Given the description of an element on the screen output the (x, y) to click on. 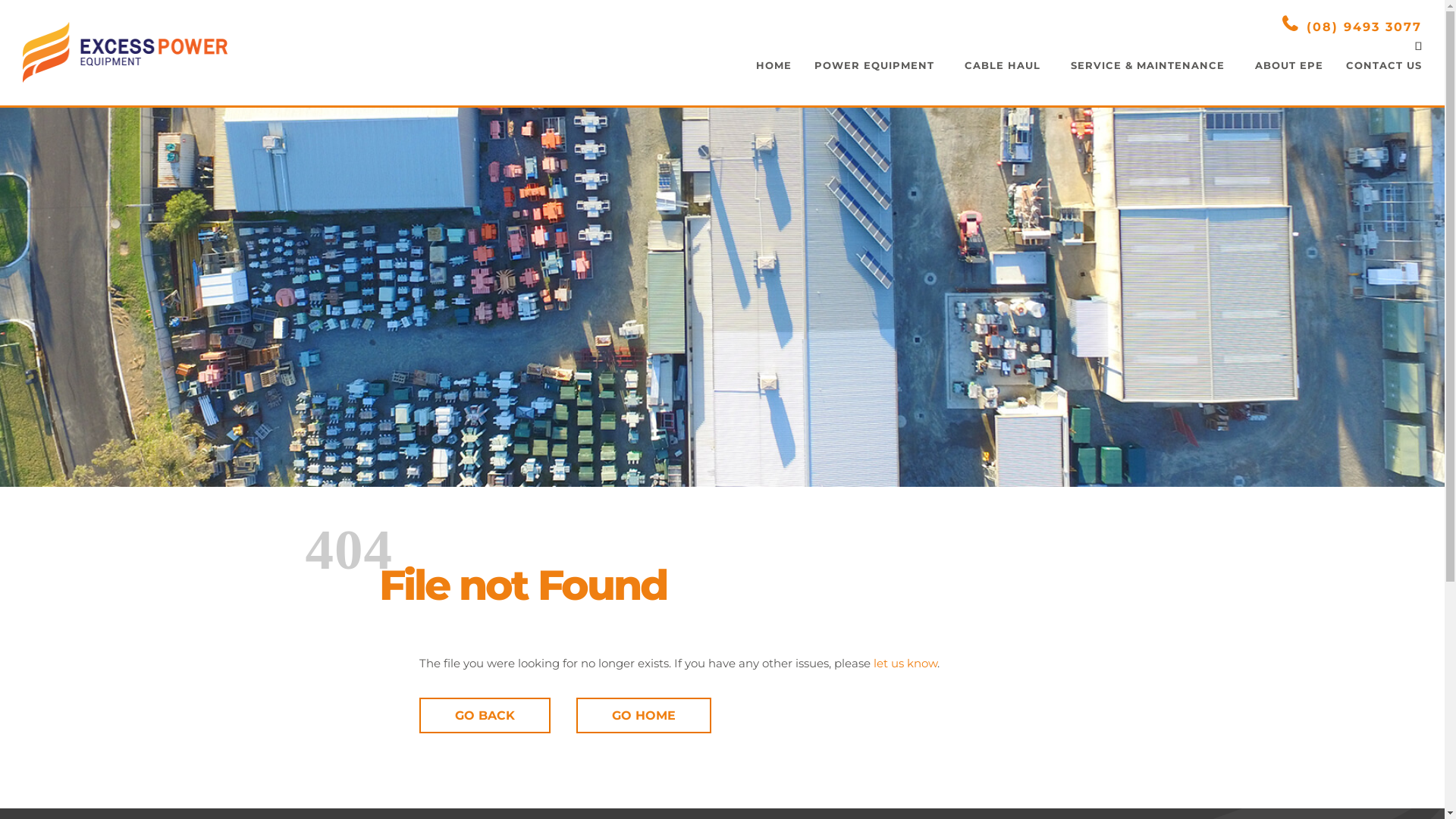
GO HOME Element type: text (643, 715)
CONTACT US Element type: text (1379, 80)
SERVICE & MAINTENANCE Element type: text (1147, 80)
POWER EQUIPMENT Element type: text (873, 80)
GO BACK Element type: text (483, 715)
ABOUT EPE Element type: text (1285, 80)
CABLE HAUL Element type: text (1002, 80)
HOME Element type: text (769, 80)
Excess Power Equipment Element type: hover (124, 51)
(08) 9493 3077 Element type: text (1351, 26)
let us know Element type: text (905, 662)
